Given the description of an element on the screen output the (x, y) to click on. 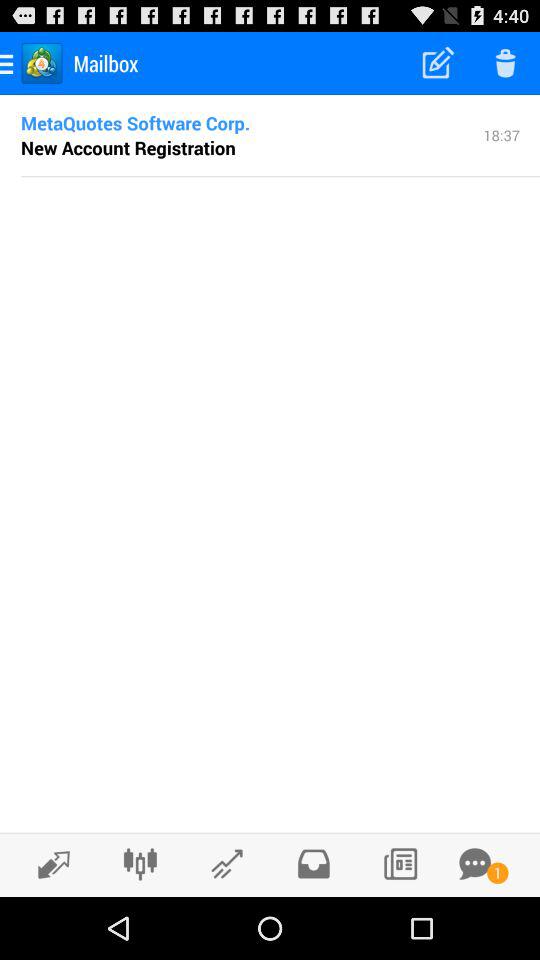
launch the new account registration icon (128, 147)
